Given the description of an element on the screen output the (x, y) to click on. 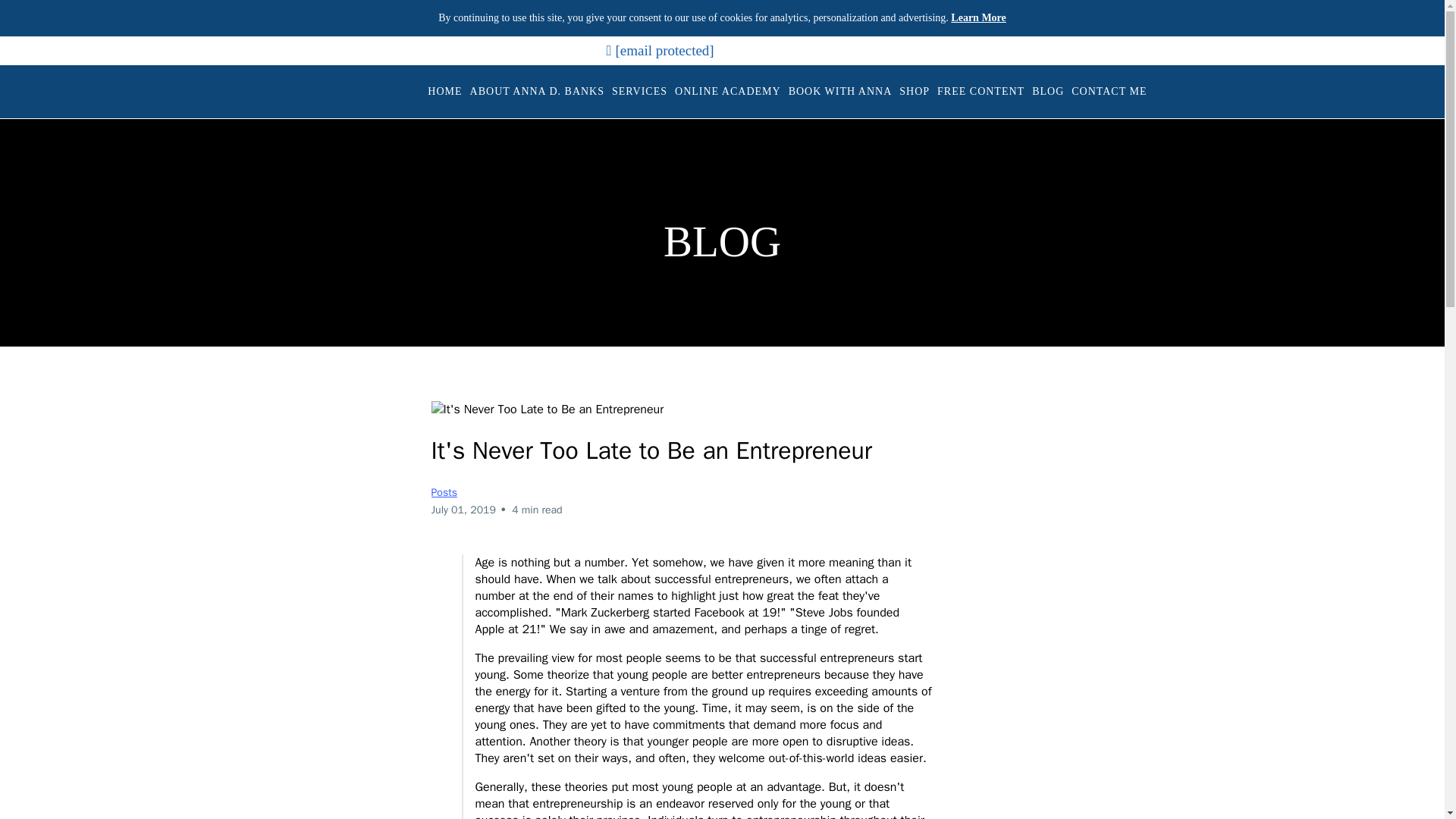
HOME (444, 92)
ABOUT ANNA D. BANKS (536, 92)
ONLINE ACADEMY (727, 92)
CONTACT ME (1108, 92)
SHOP (914, 92)
SERVICES (639, 92)
BOOK WITH ANNA (840, 92)
BLOG (1047, 92)
Posts (443, 492)
FREE CONTENT (980, 92)
